Given the description of an element on the screen output the (x, y) to click on. 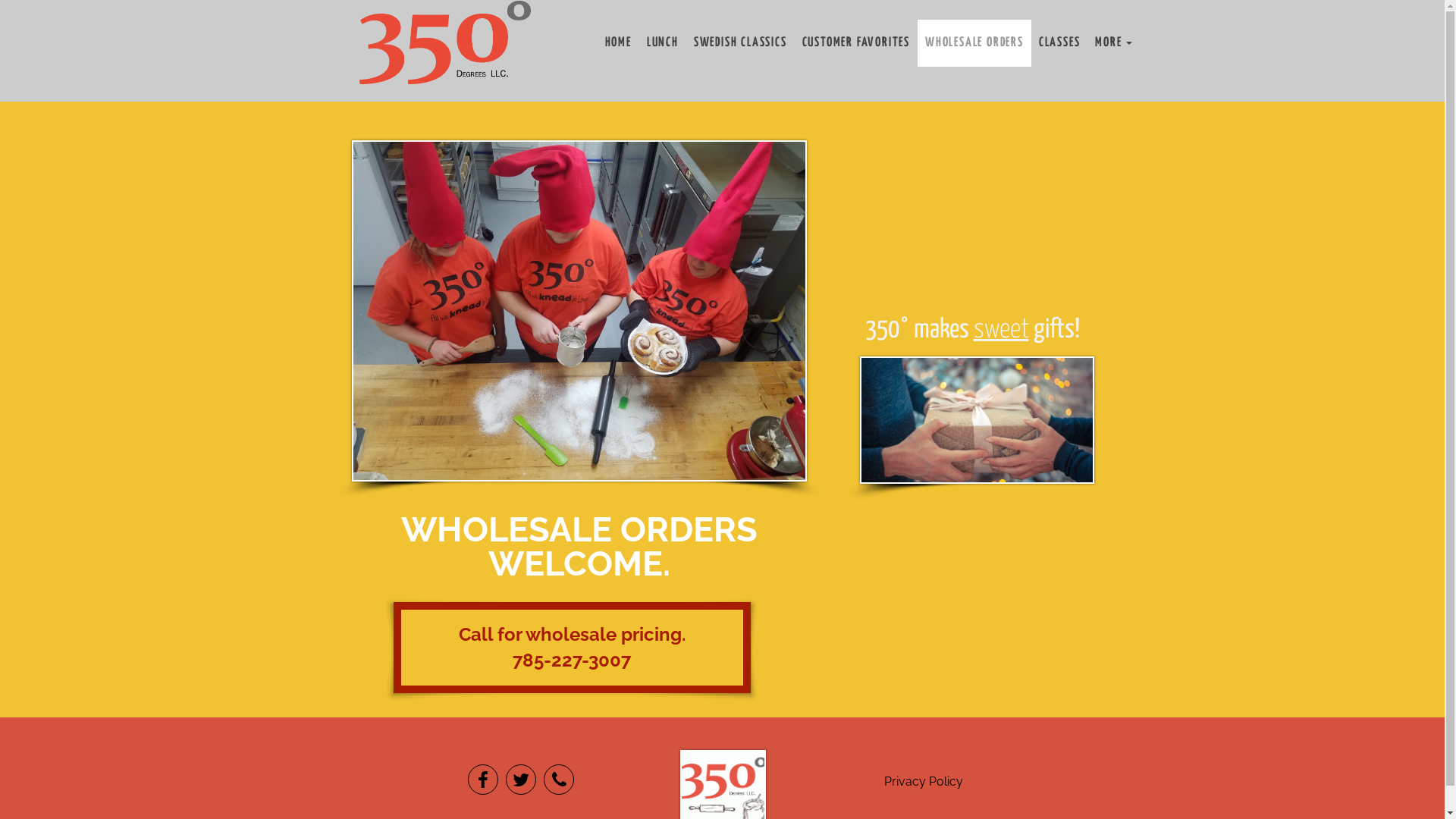
WHOLESALE ORDERS Element type: text (974, 42)
MORE Element type: text (1113, 42)
Cart (0) Element type: text (405, 28)
HOME Element type: text (618, 42)
Checkout Element type: text (403, 40)
CUSTOMER FAVORITES Element type: text (855, 42)
CLASSES Element type: text (1059, 42)
LUNCH Element type: text (662, 42)
SWEDISH CLASSICS Element type: text (740, 42)
Log in Element type: text (395, 16)
Privacy Policy Element type: text (923, 781)
